Given the description of an element on the screen output the (x, y) to click on. 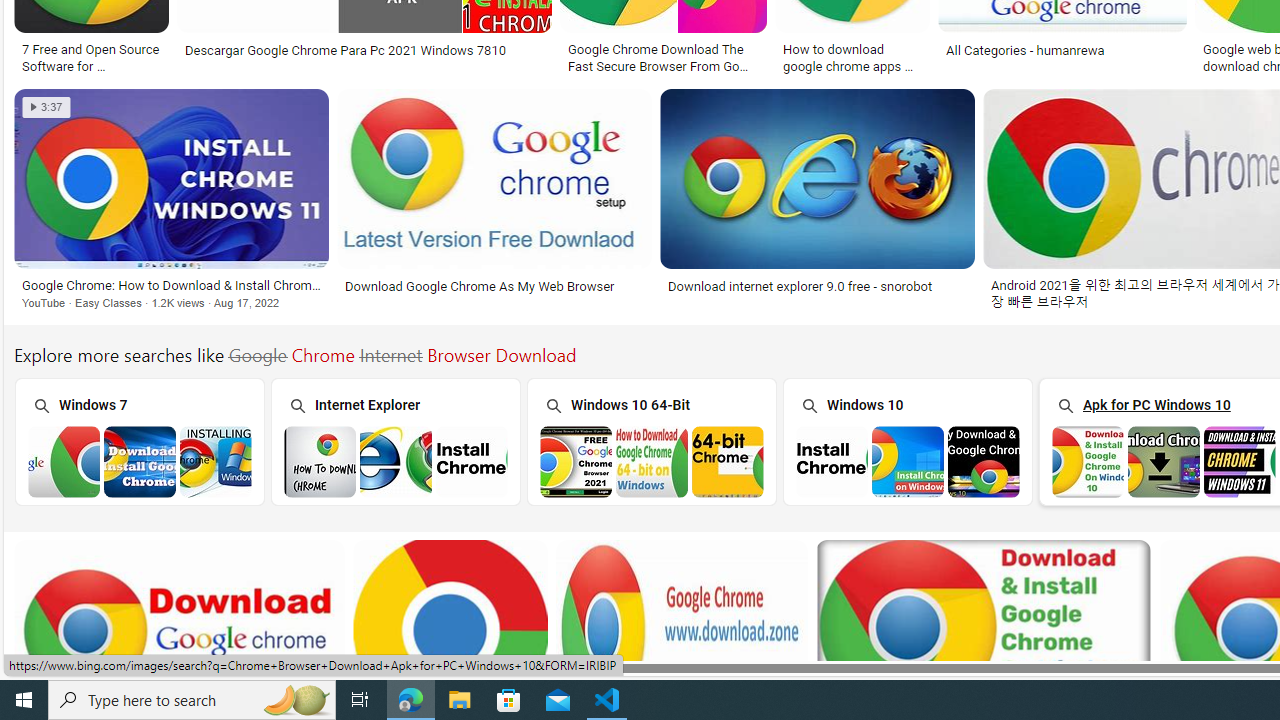
Chrome Browser Download Windows 7 Windows 7 (139, 441)
Windows 7 (138, 440)
Download Google Chrome As My Web BrowserSave (498, 202)
Image result for Google Chrome Internet Browser Download (817, 179)
Windows 10 64-Bit (651, 440)
Chrome Browser Download Windows 10 64-Bit Windows 10 64-Bit (651, 441)
Internet Explorer (395, 440)
Chrome Browser Download Windows 10 Windows 10 (907, 441)
Download Google Chrome As My Web Browser (494, 286)
7 Free and Open Source Software for Windows PC | HubPages (91, 56)
All Categories - humanrewa (1024, 50)
Descargar Google Chrome Para Pc 2021 Windows 7810 (345, 50)
Download internet explorer 9.0 free - snorobotSave (821, 202)
